Given the description of an element on the screen output the (x, y) to click on. 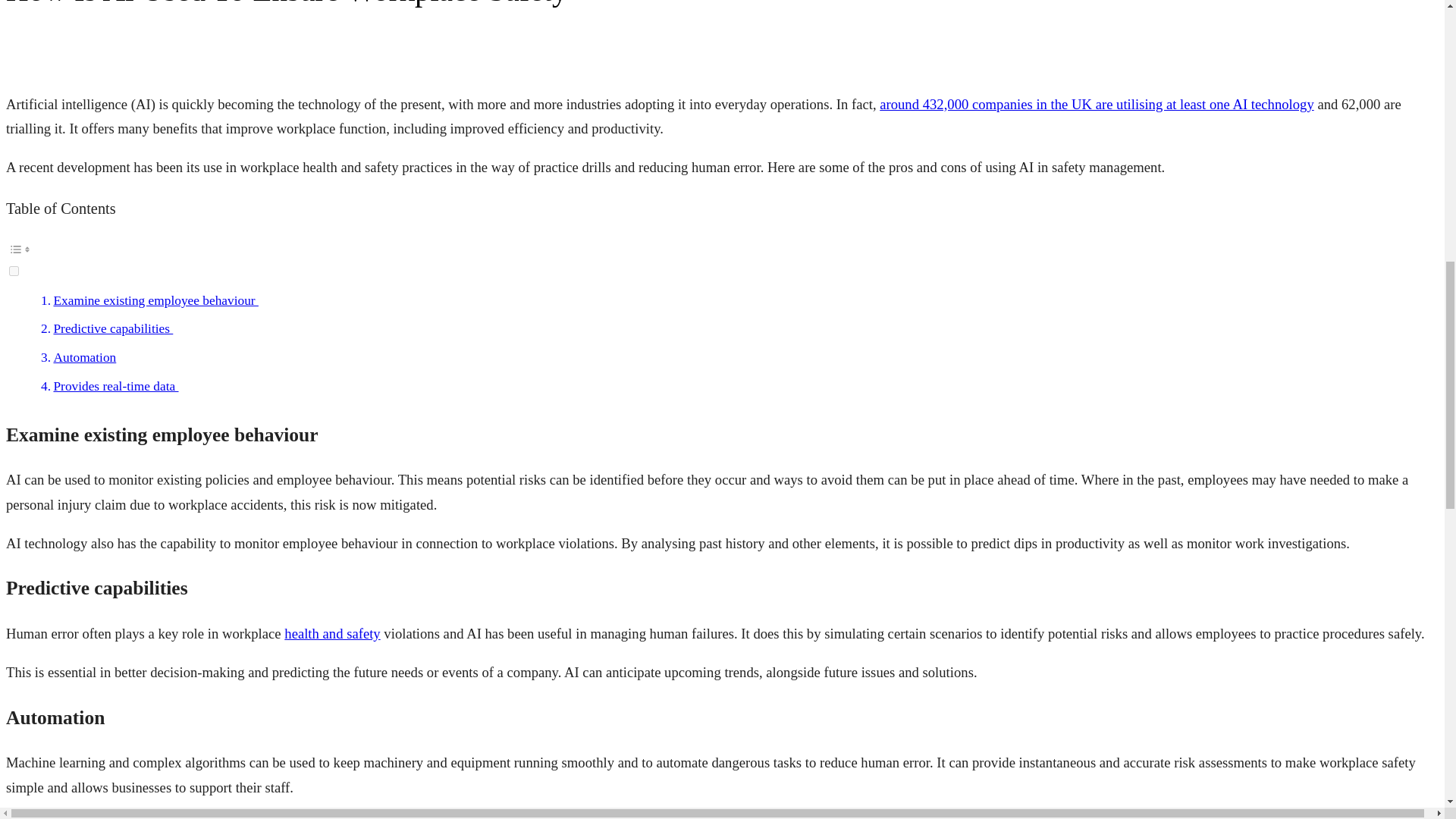
on (13, 271)
